Given the description of an element on the screen output the (x, y) to click on. 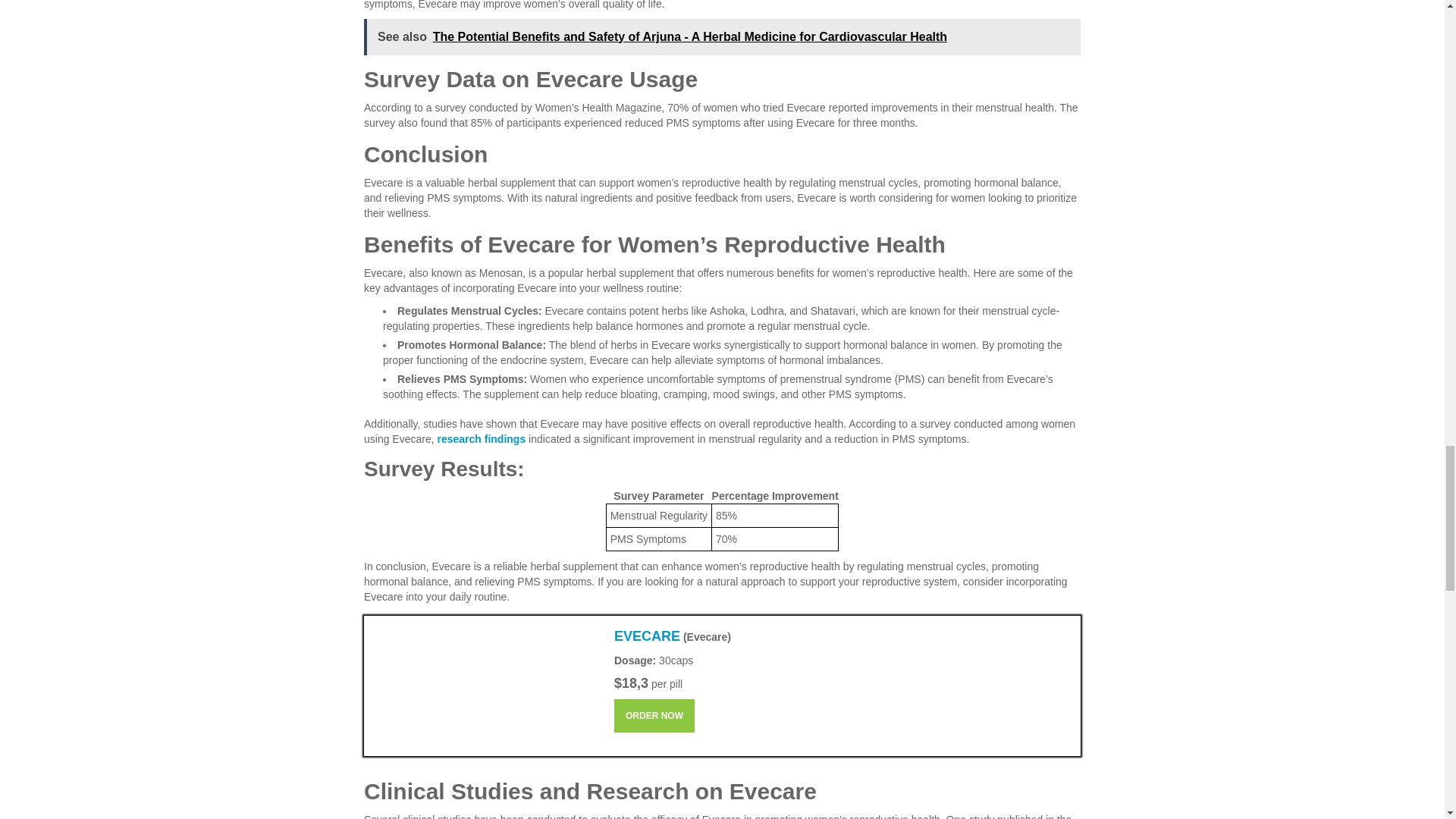
research findings (480, 438)
ORDER NOW (654, 716)
